Given the description of an element on the screen output the (x, y) to click on. 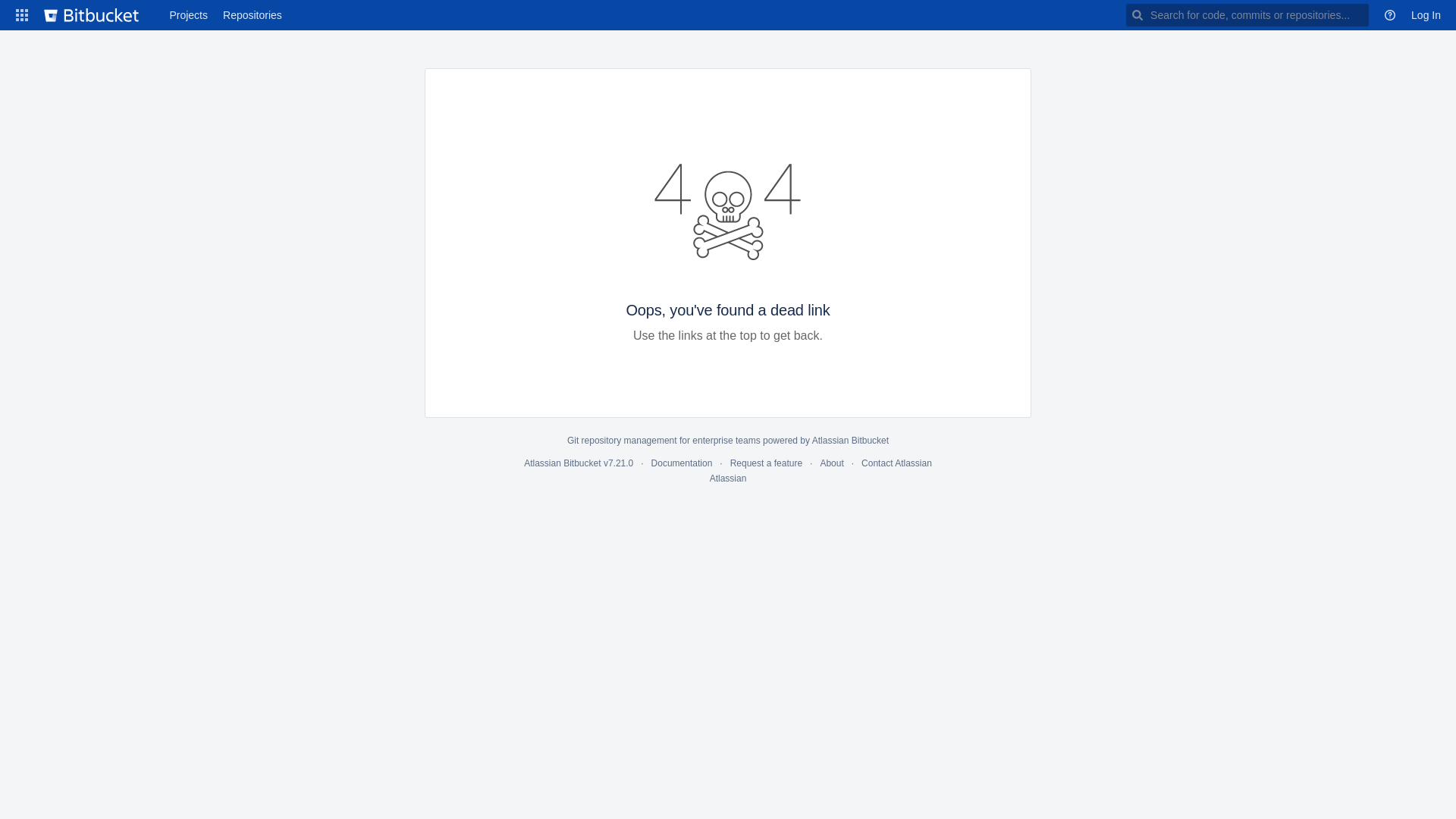
About Element type: text (831, 463)
Request a feature Element type: text (766, 463)
Linked Applications Element type: text (21, 15)
Log In Element type: text (1425, 15)
Help Element type: text (1389, 15)
Repositories Element type: text (252, 15)
Contact Atlassian Element type: text (896, 463)
Documentation Element type: text (681, 463)
Projects Element type: text (188, 15)
Atlassian Bitbucket Element type: text (850, 440)
Atlassian Element type: text (727, 478)
